Given the description of an element on the screen output the (x, y) to click on. 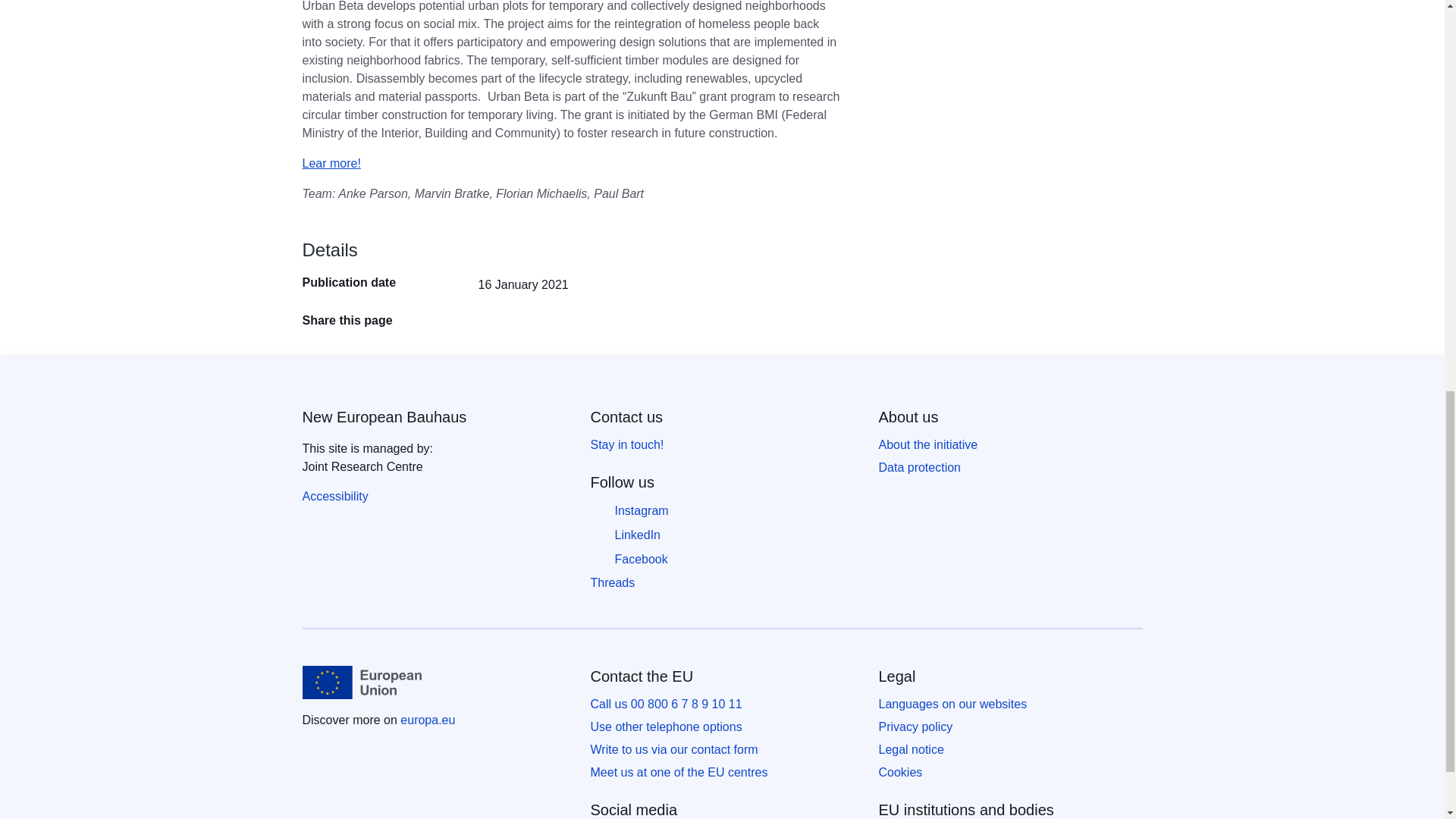
European Union (361, 682)
